Given the description of an element on the screen output the (x, y) to click on. 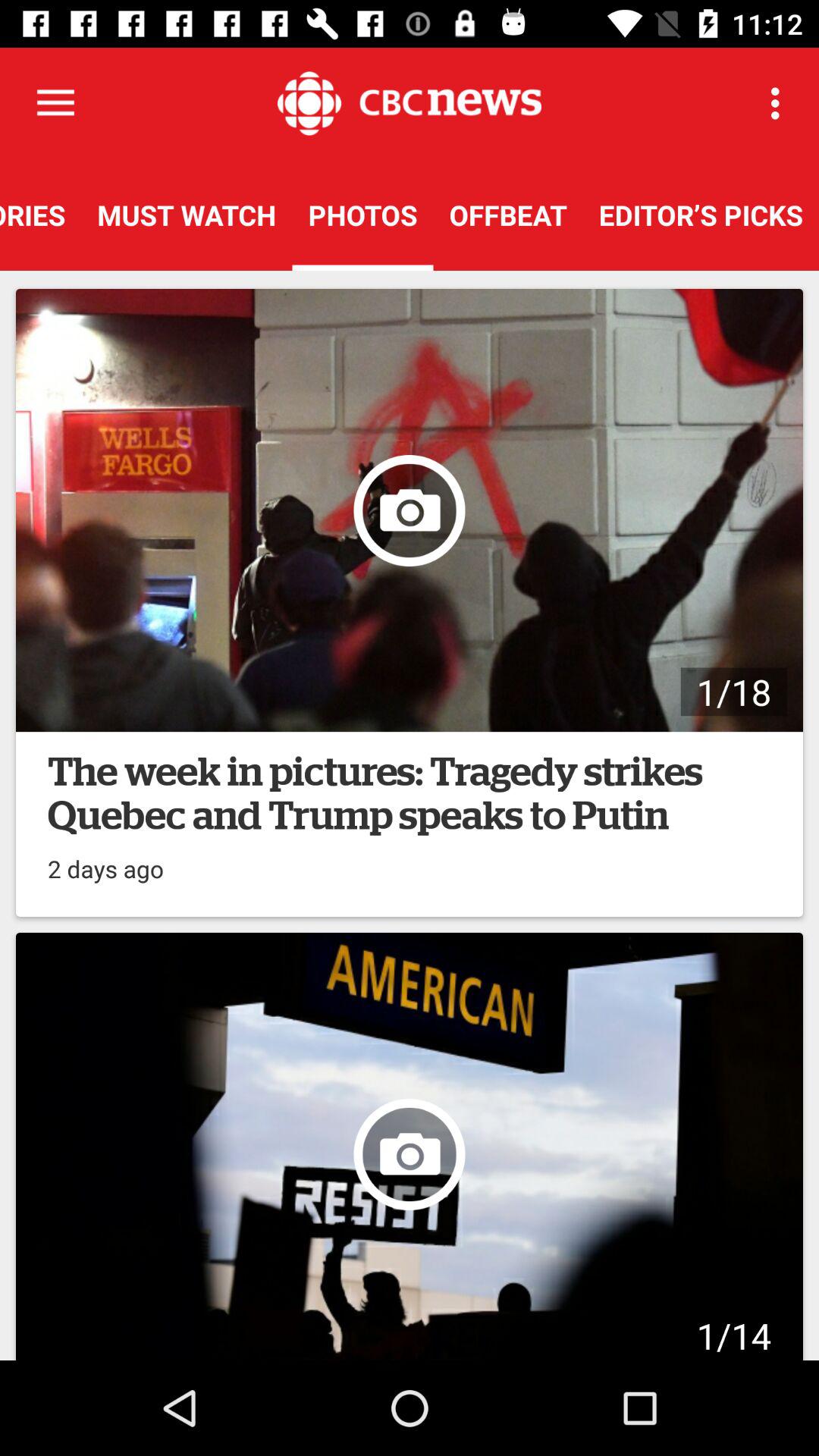
scroll until the must watch item (186, 214)
